Given the description of an element on the screen output the (x, y) to click on. 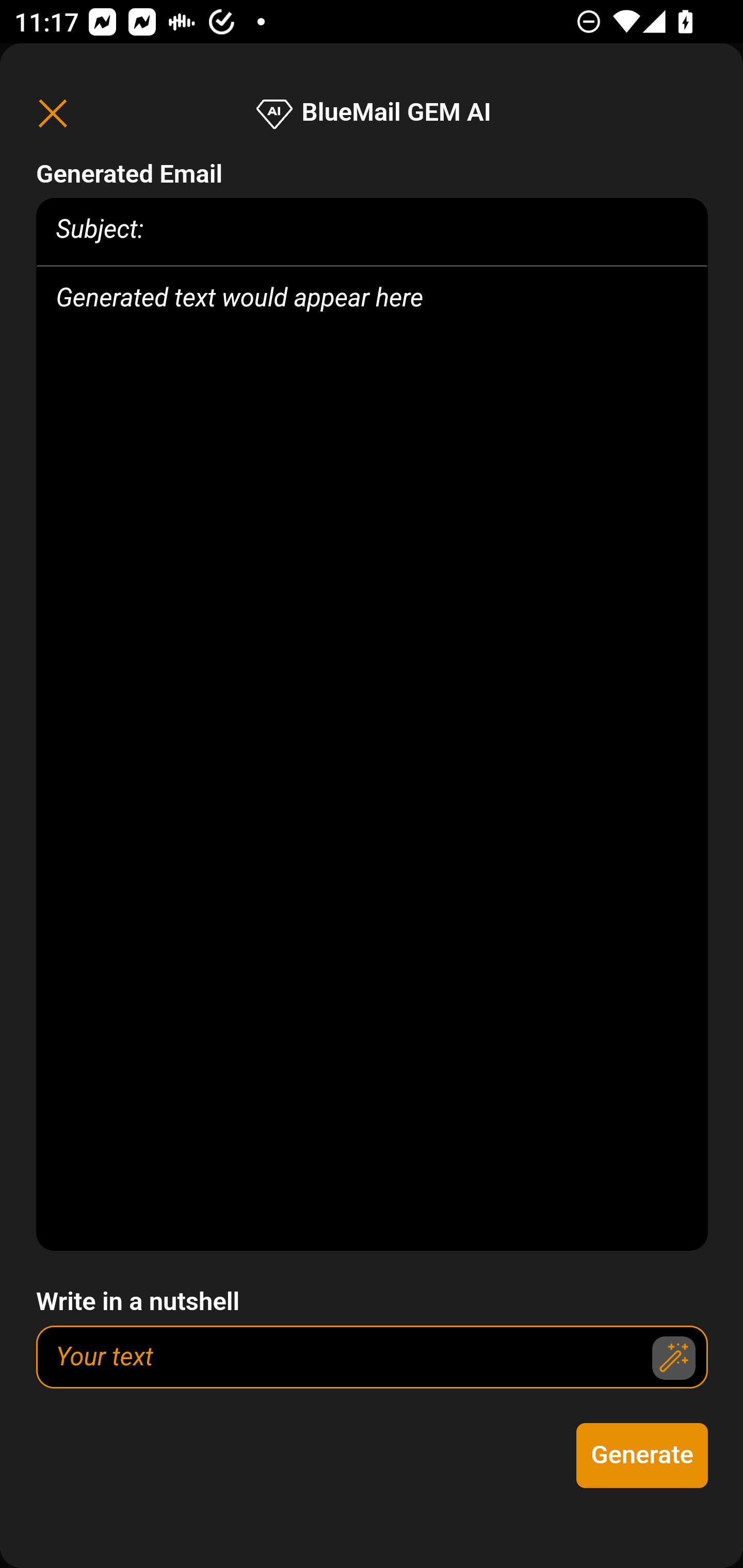
Generate (642, 1455)
